Given the description of an element on the screen output the (x, y) to click on. 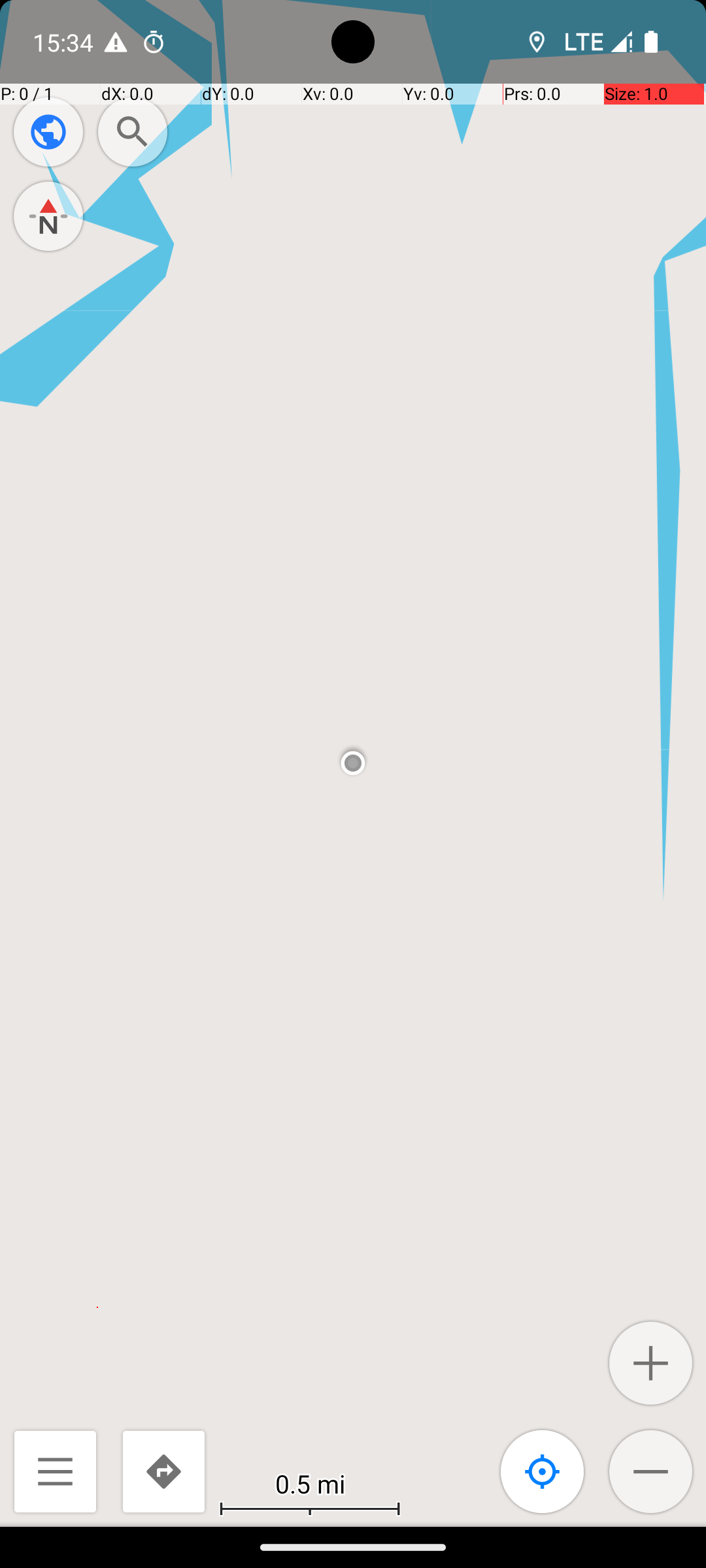
North is up Element type: android.widget.ImageButton (48, 216)
0.5 mi Element type: android.widget.TextView (309, 1483)
Map linked to location Element type: android.widget.ImageButton (542, 1471)
